Given the description of an element on the screen output the (x, y) to click on. 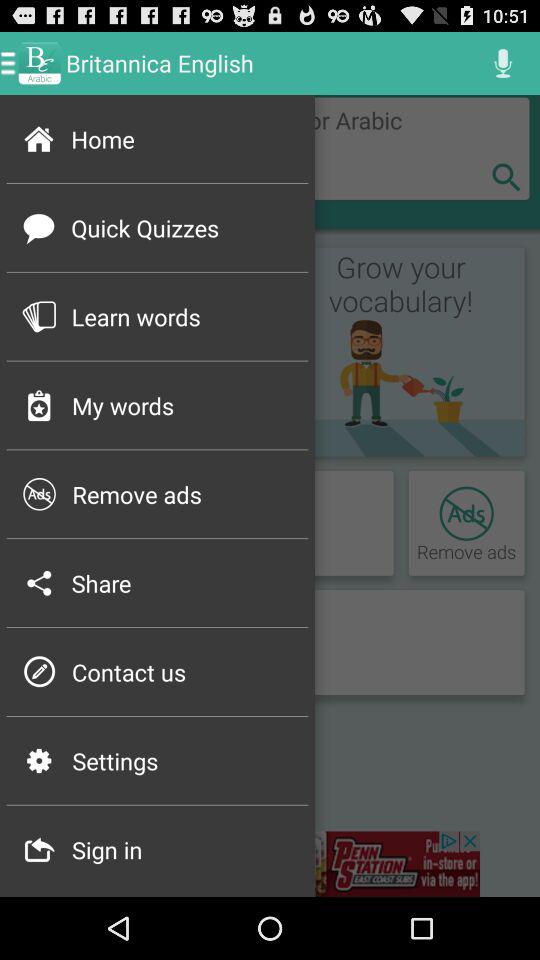
flip to the share icon (183, 583)
